Given the description of an element on the screen output the (x, y) to click on. 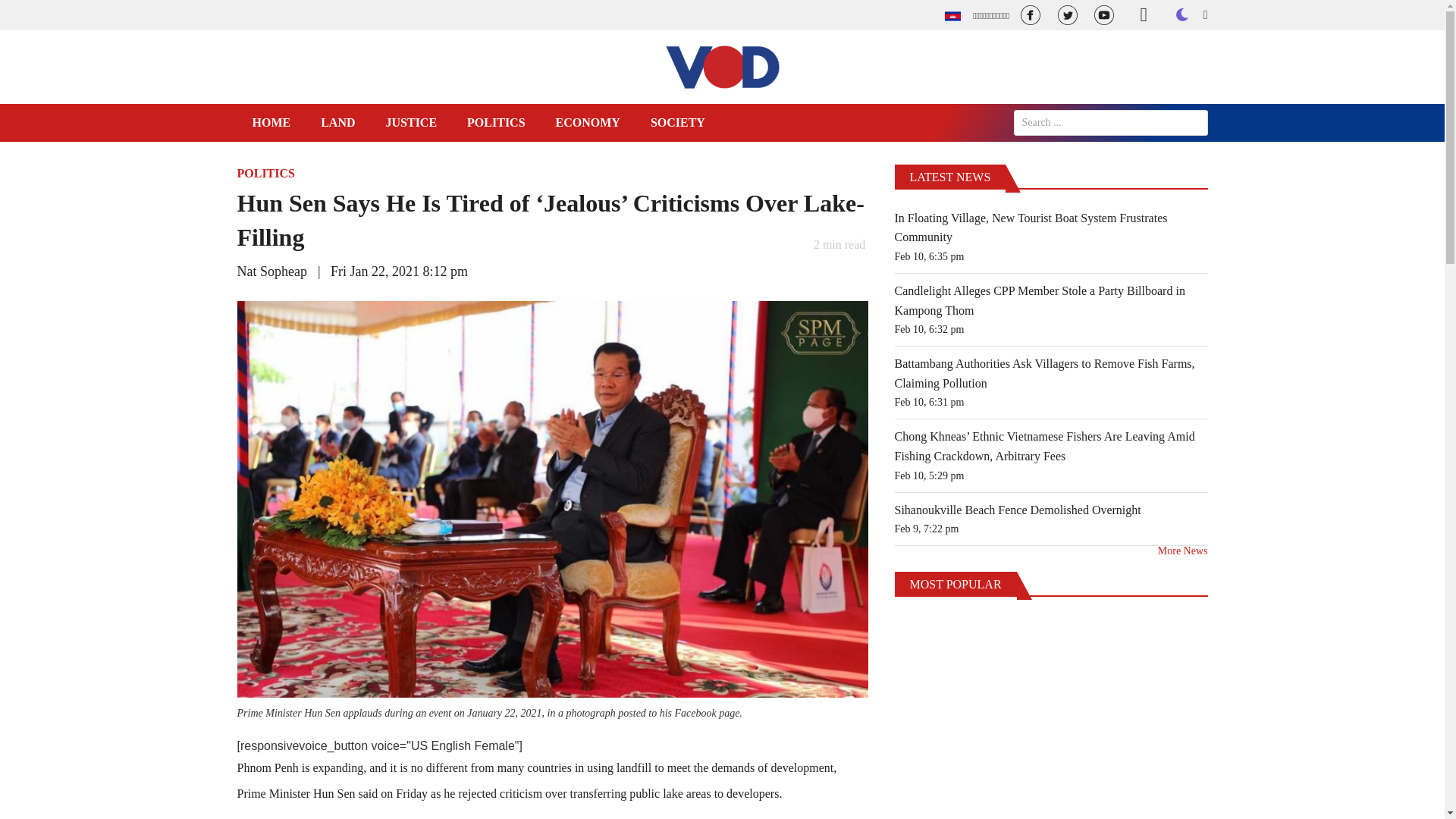
ECONOMY (587, 122)
Nat Sopheap (270, 271)
POLITICS (495, 122)
SOCIETY (677, 122)
Posts by Nat Sopheap (270, 271)
LAND (337, 122)
HOME (270, 122)
POLITICS (264, 173)
JUSTICE (411, 122)
